Given the description of an element on the screen output the (x, y) to click on. 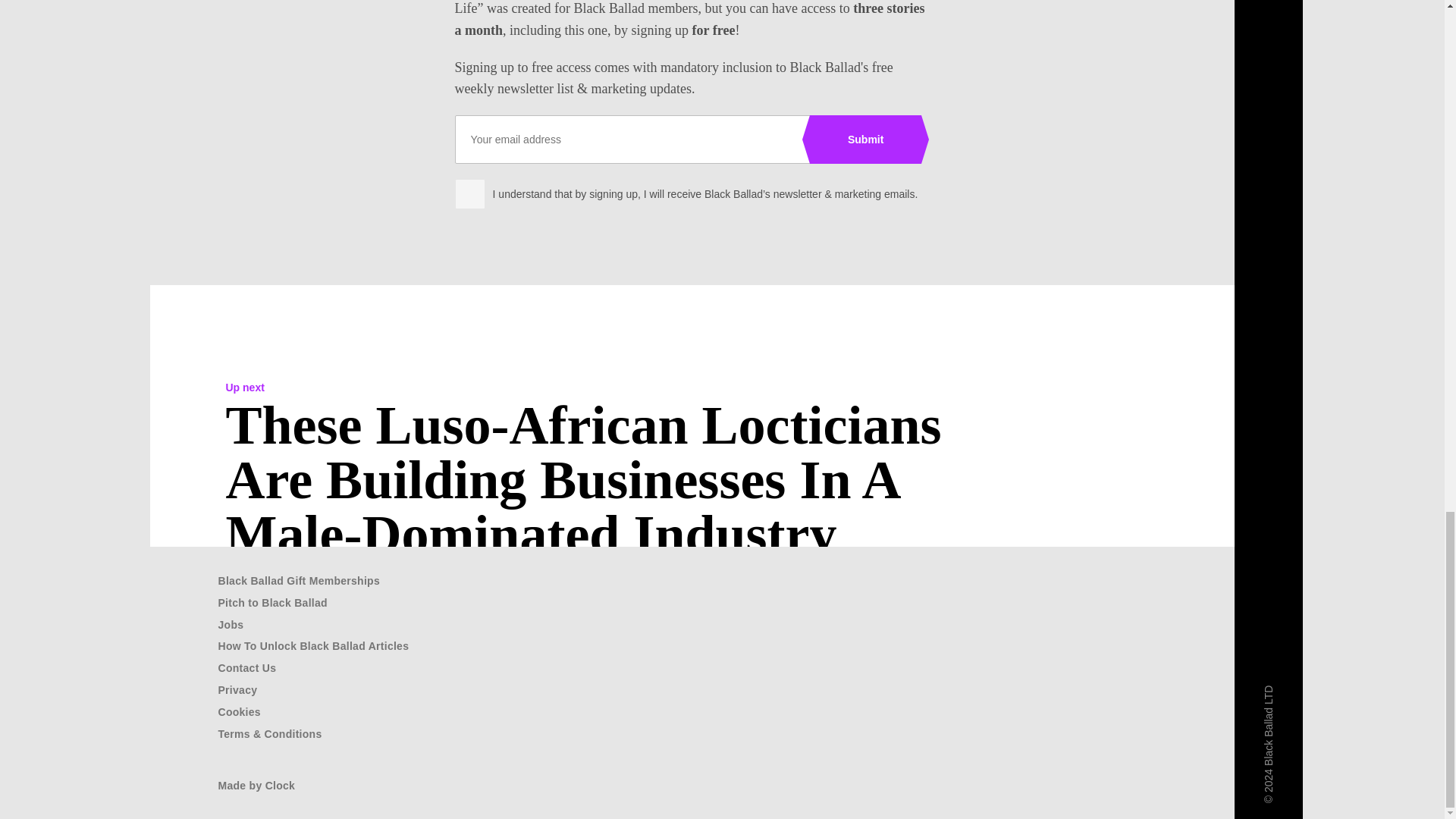
How To Unlock Black Ballad Articles (313, 645)
Submit (865, 139)
Made by Clock (256, 785)
Black Ballad Gift Memberships (299, 580)
Jobs (231, 624)
Cookies (239, 711)
Pitch to Black Ballad (272, 603)
Contact Us (247, 667)
Privacy (237, 689)
